Given the description of an element on the screen output the (x, y) to click on. 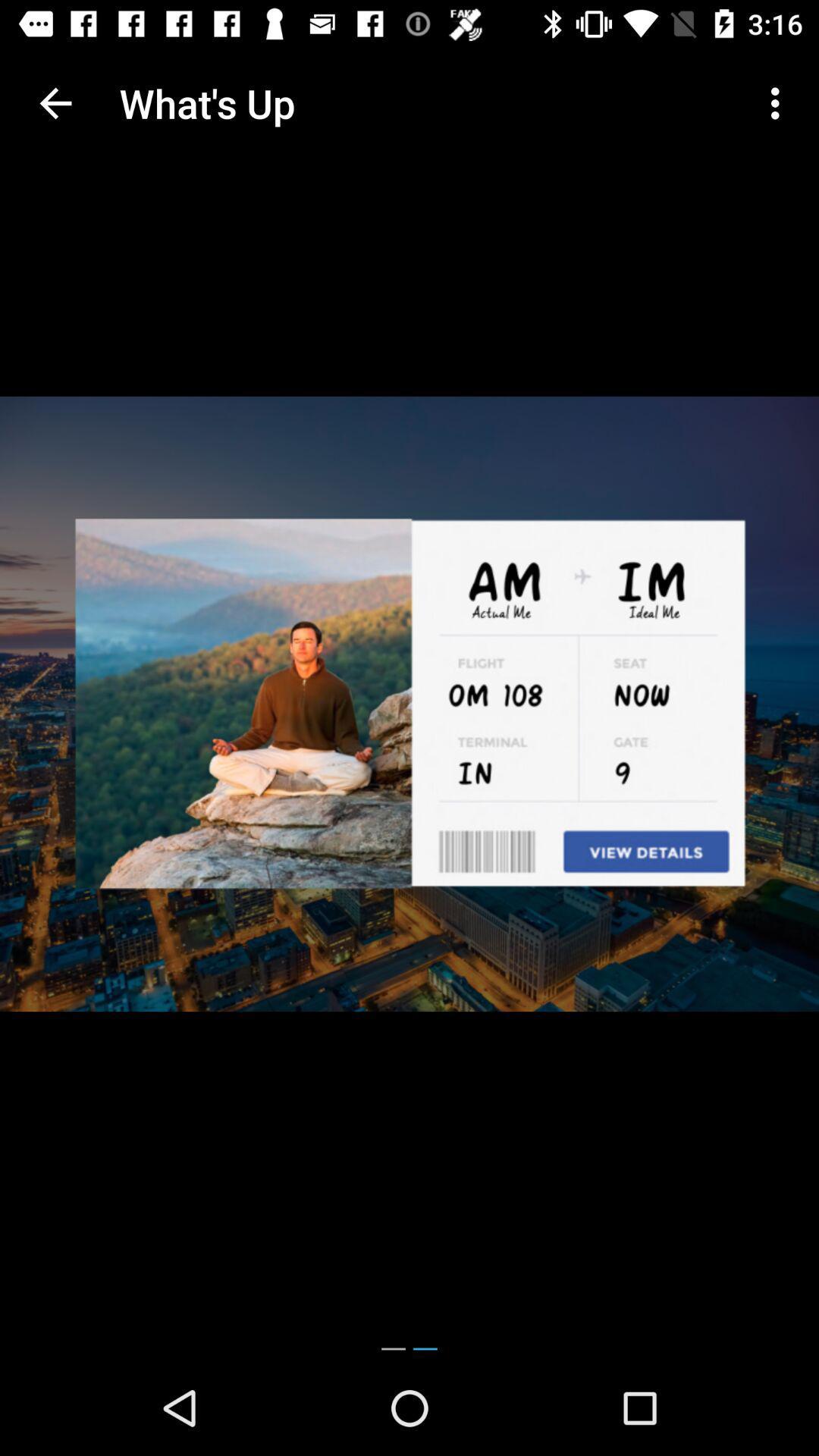
select app to the right of what's up item (779, 103)
